Given the description of an element on the screen output the (x, y) to click on. 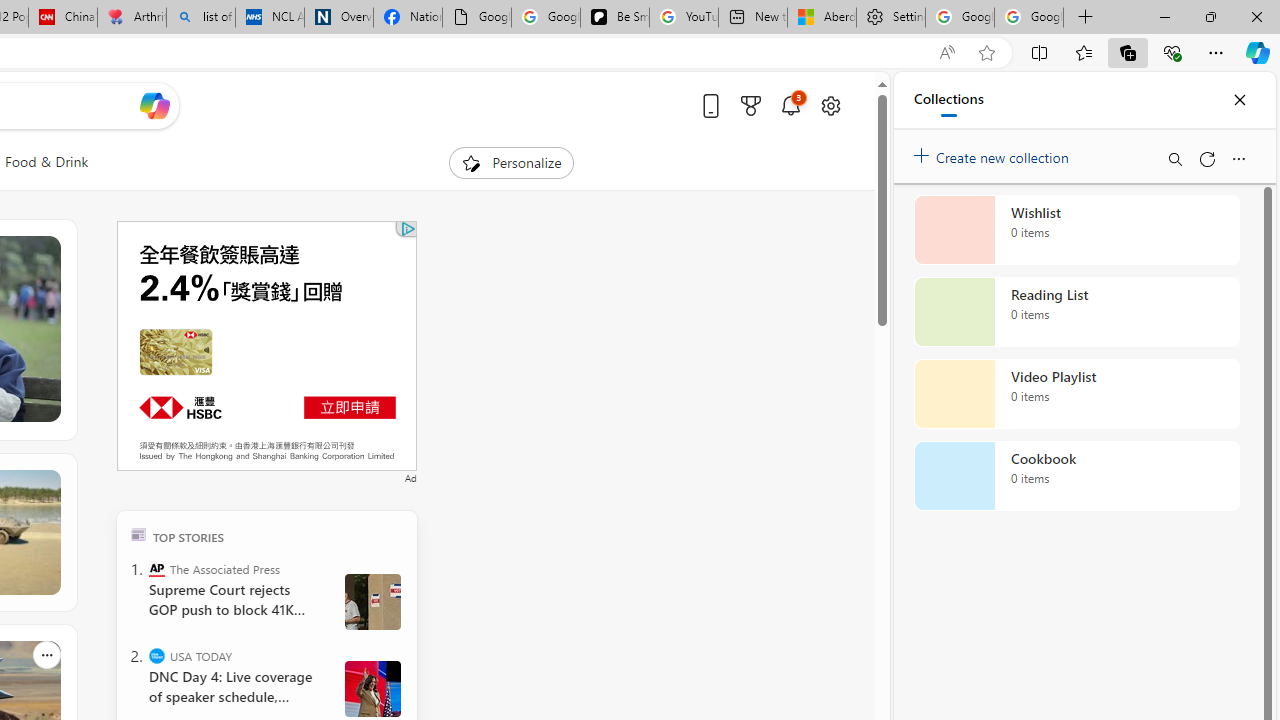
The Associated Press (156, 568)
Be Smart | creating Science videos | Patreon (614, 17)
Cookbook collection, 0 items (1076, 475)
